Given the description of an element on the screen output the (x, y) to click on. 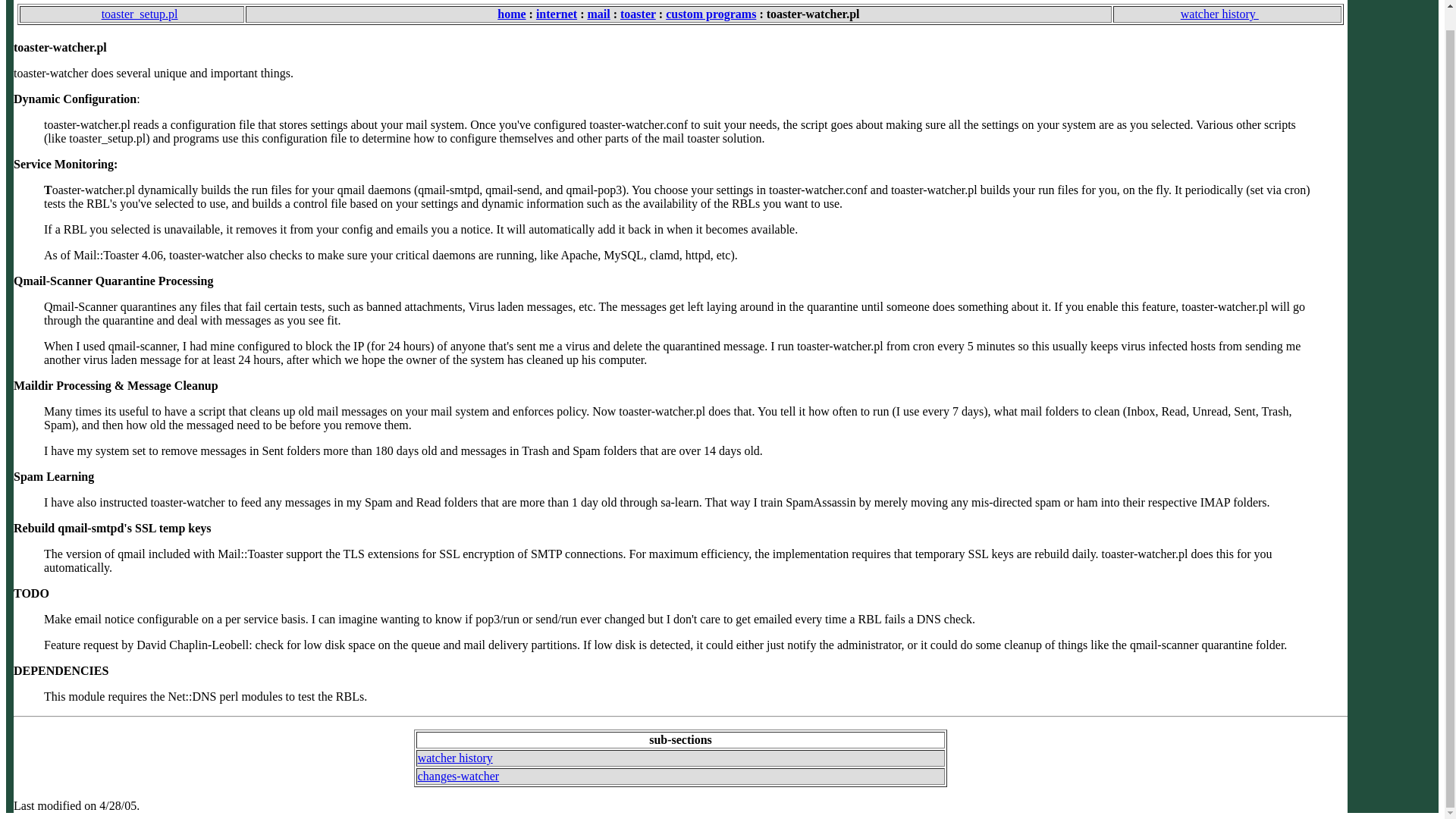
internet (555, 13)
mail (598, 13)
watcher history (455, 757)
watcher history (1227, 13)
home (511, 13)
custom programs (710, 13)
toaster (638, 13)
changes-watcher (458, 775)
